Given the description of an element on the screen output the (x, y) to click on. 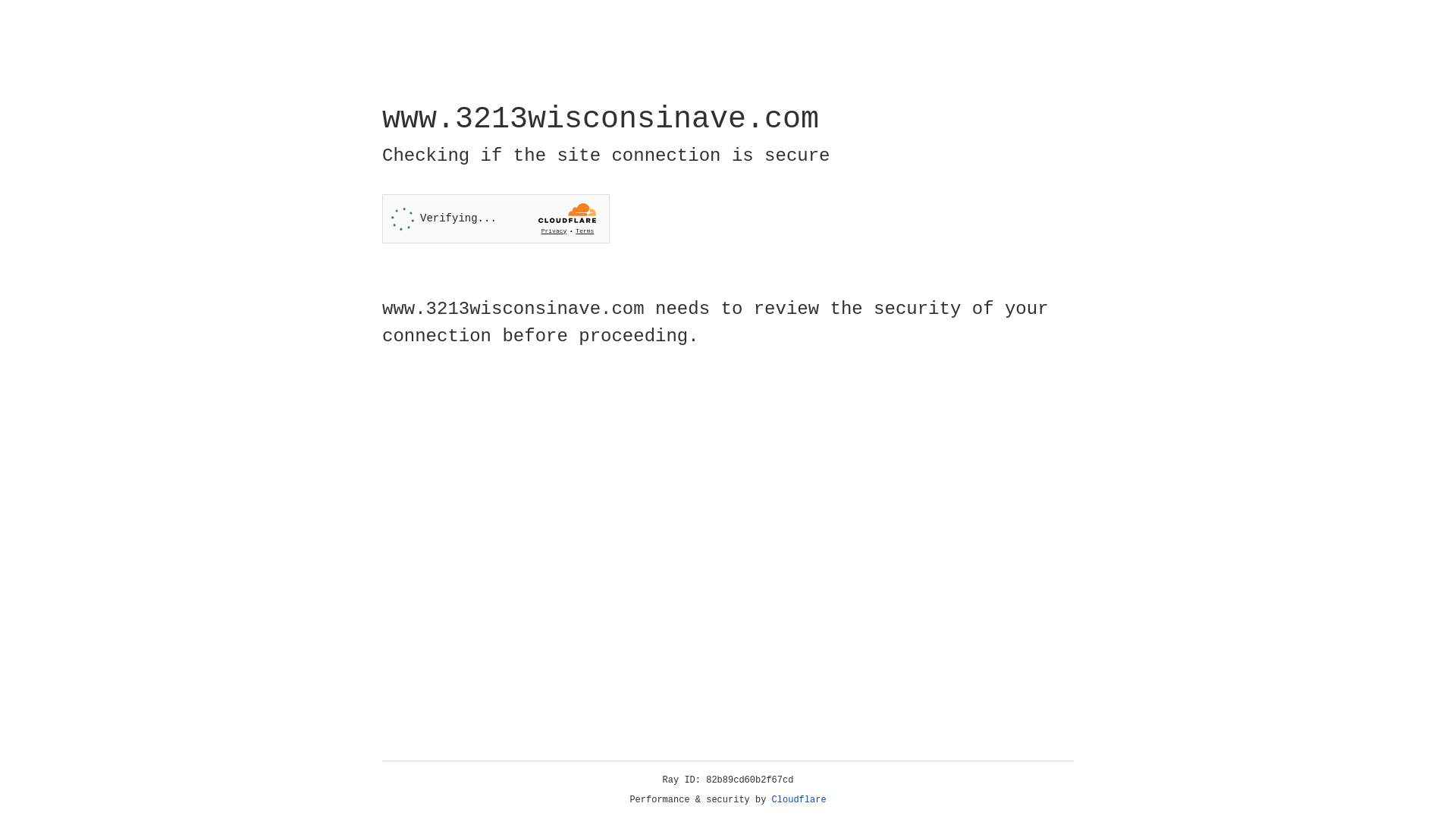
Widget containing a Cloudflare security challenge Element type: hover (495, 218)
Cloudflare Element type: text (798, 799)
